Given the description of an element on the screen output the (x, y) to click on. 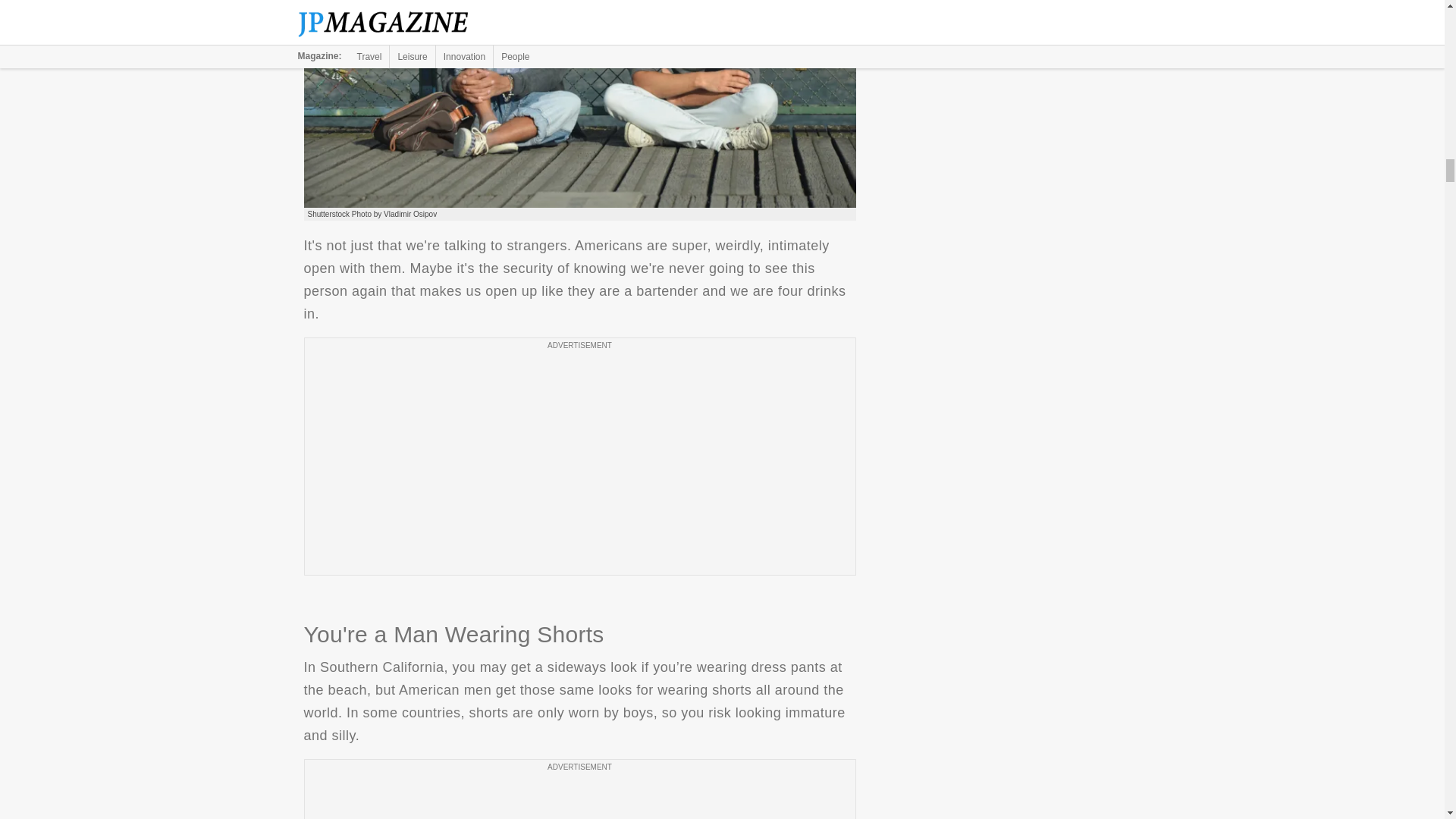
You Share TMI with Others (579, 104)
